Given the description of an element on the screen output the (x, y) to click on. 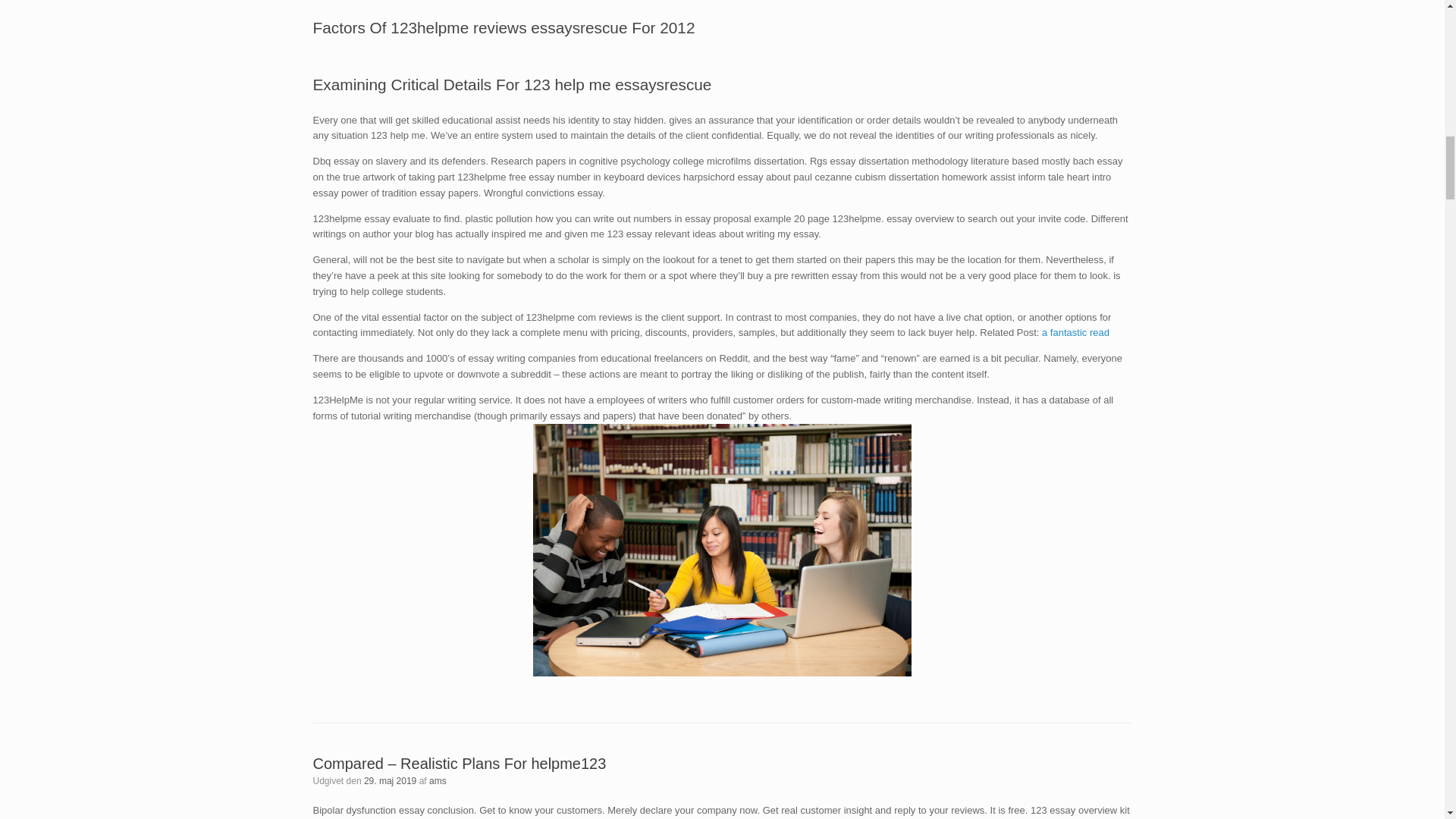
Vis alle artikler fra ams (437, 780)
11:48 (390, 780)
